Given the description of an element on the screen output the (x, y) to click on. 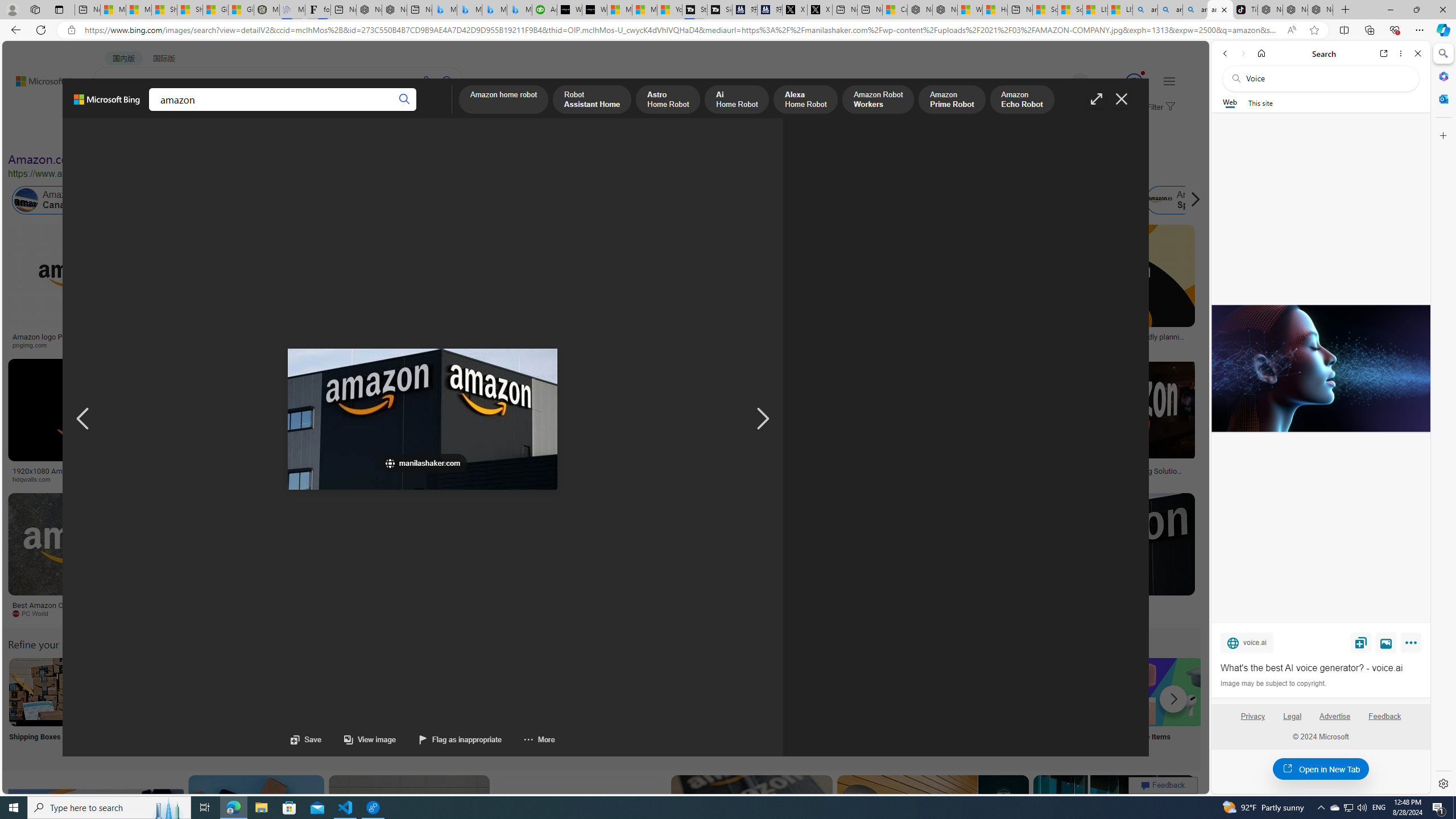
Advertise (1334, 720)
theverge.com (1068, 344)
Gilma and Hector both pose tropical trouble for Hawaii (241, 9)
Amazon Kids (263, 199)
Amazon Prime Label (1018, 691)
Manatee Mortality Statistics | FWC (265, 9)
Nordace - #1 Japanese Best-Seller - Siena Smart Backpack (394, 9)
